Given the description of an element on the screen output the (x, y) to click on. 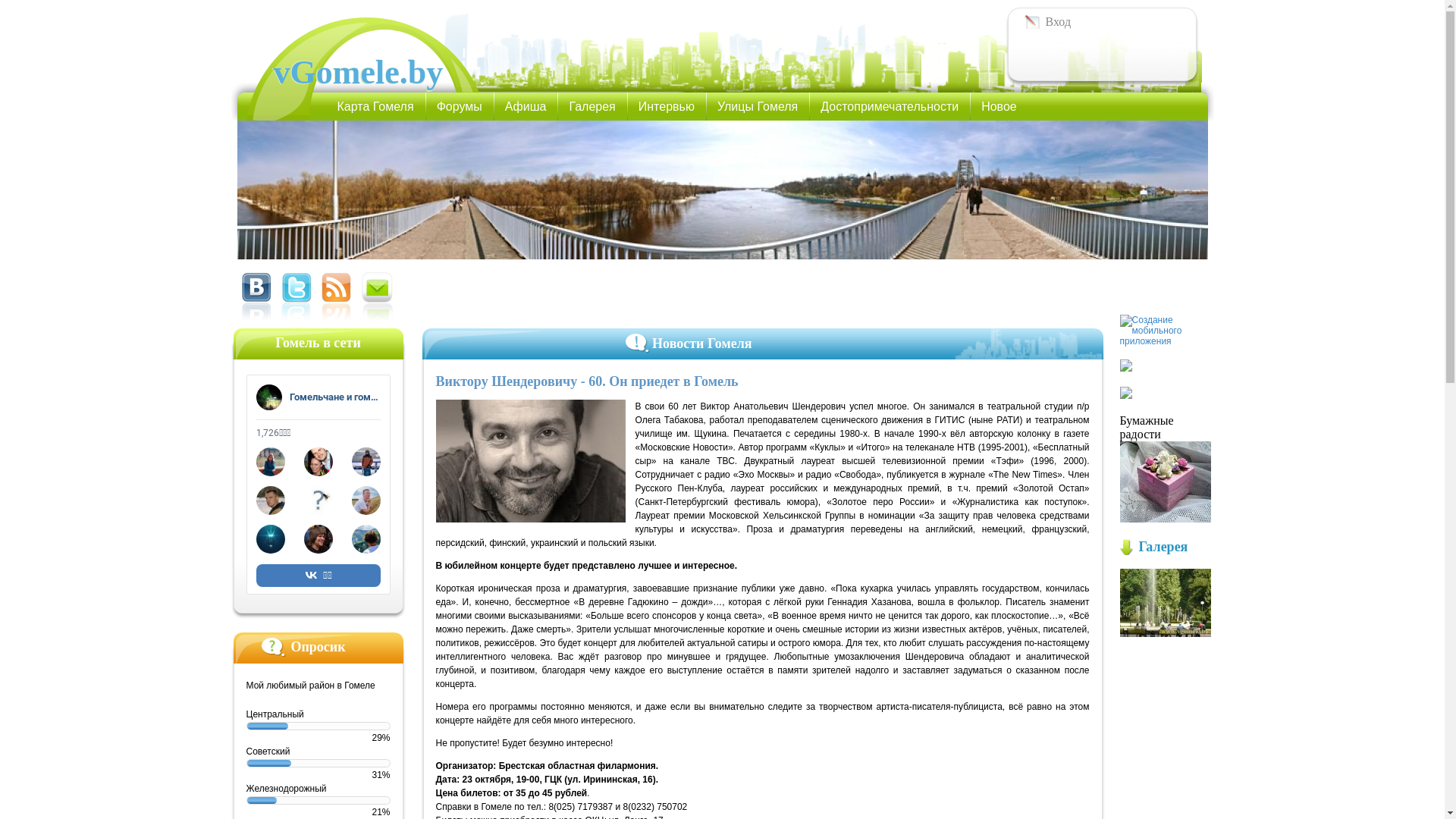
vGomele.by Element type: text (357, 72)
